Given the description of an element on the screen output the (x, y) to click on. 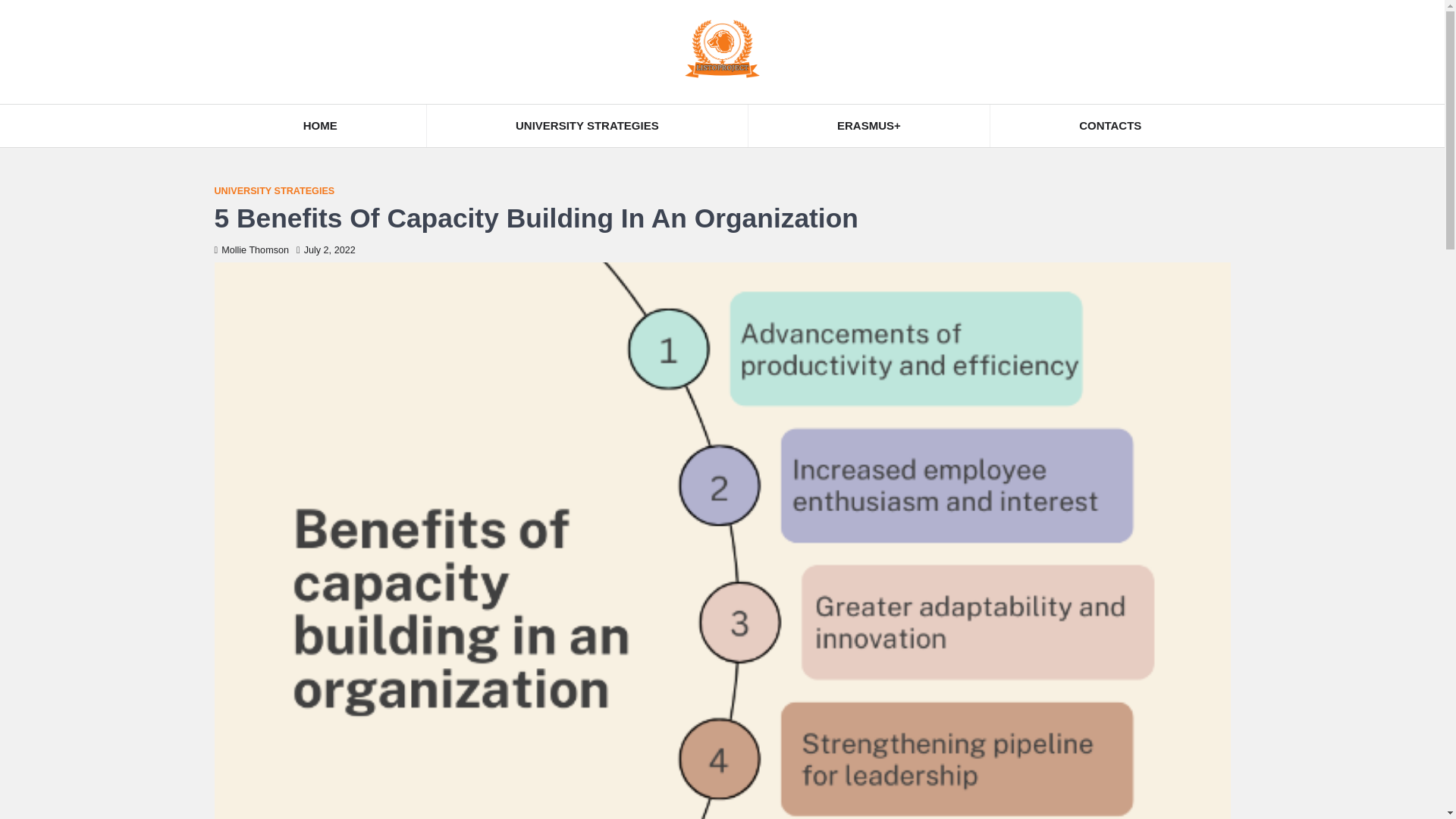
CONTACTS (1110, 126)
Mollie Thomson (251, 249)
July 2, 2022 (326, 249)
HOME (319, 126)
UNIVERSITY STRATEGIES (274, 191)
UNIVERSITY STRATEGIES (587, 126)
